Given the description of an element on the screen output the (x, y) to click on. 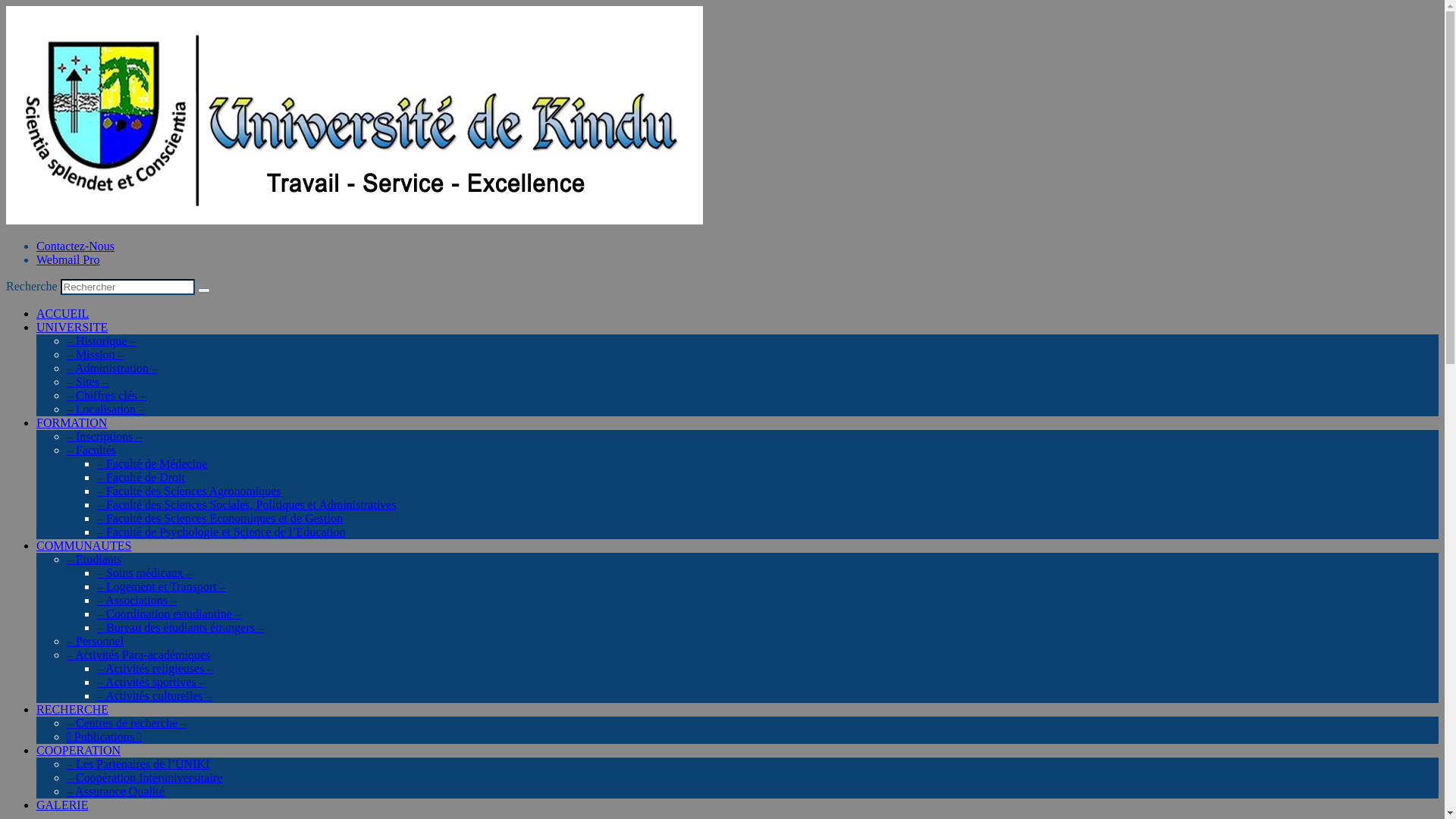
GALERIE Element type: text (61, 804)
FORMATION Element type: text (71, 422)
UNIVERSITE Element type: text (71, 326)
RECHERCHE Element type: text (72, 708)
Webmail Pro Element type: text (68, 259)
COMMUNAUTES Element type: text (83, 545)
ACCUEIL Element type: text (62, 313)
Contactez-Nous Element type: text (75, 245)
COOPERATION Element type: text (78, 749)
